Given the description of an element on the screen output the (x, y) to click on. 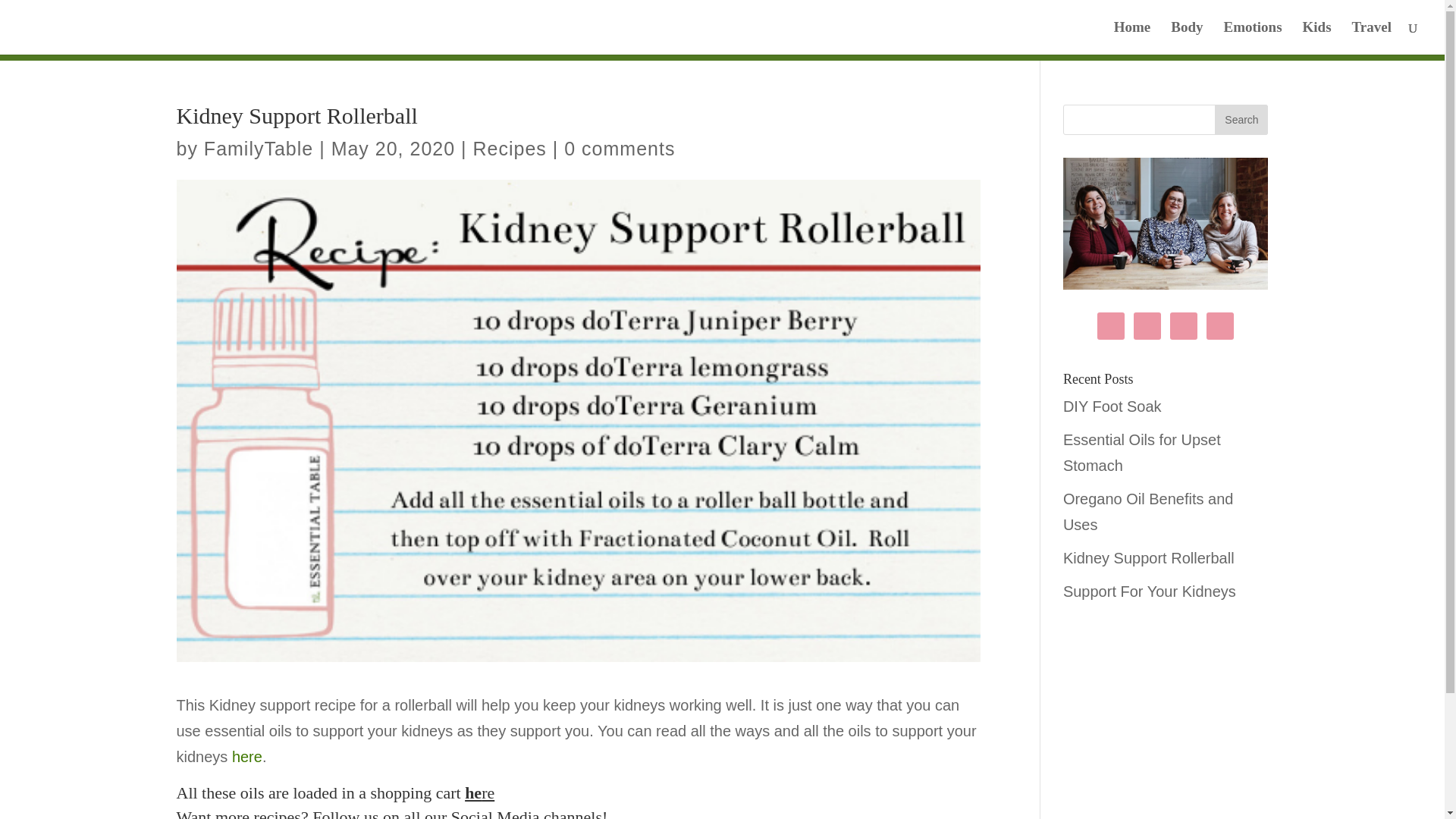
Support For Your Kidneys (1149, 591)
Search (1241, 119)
FamilyTable (258, 148)
Recipes (510, 148)
re (488, 792)
DIY Foot Soak (1111, 406)
Posts by FamilyTable (258, 148)
he (472, 792)
Essential Oils for Upset Stomach (1141, 452)
Emotions (1252, 38)
Home (1132, 38)
Body (1186, 38)
here (246, 756)
Search (1241, 119)
Travel (1371, 38)
